Given the description of an element on the screen output the (x, y) to click on. 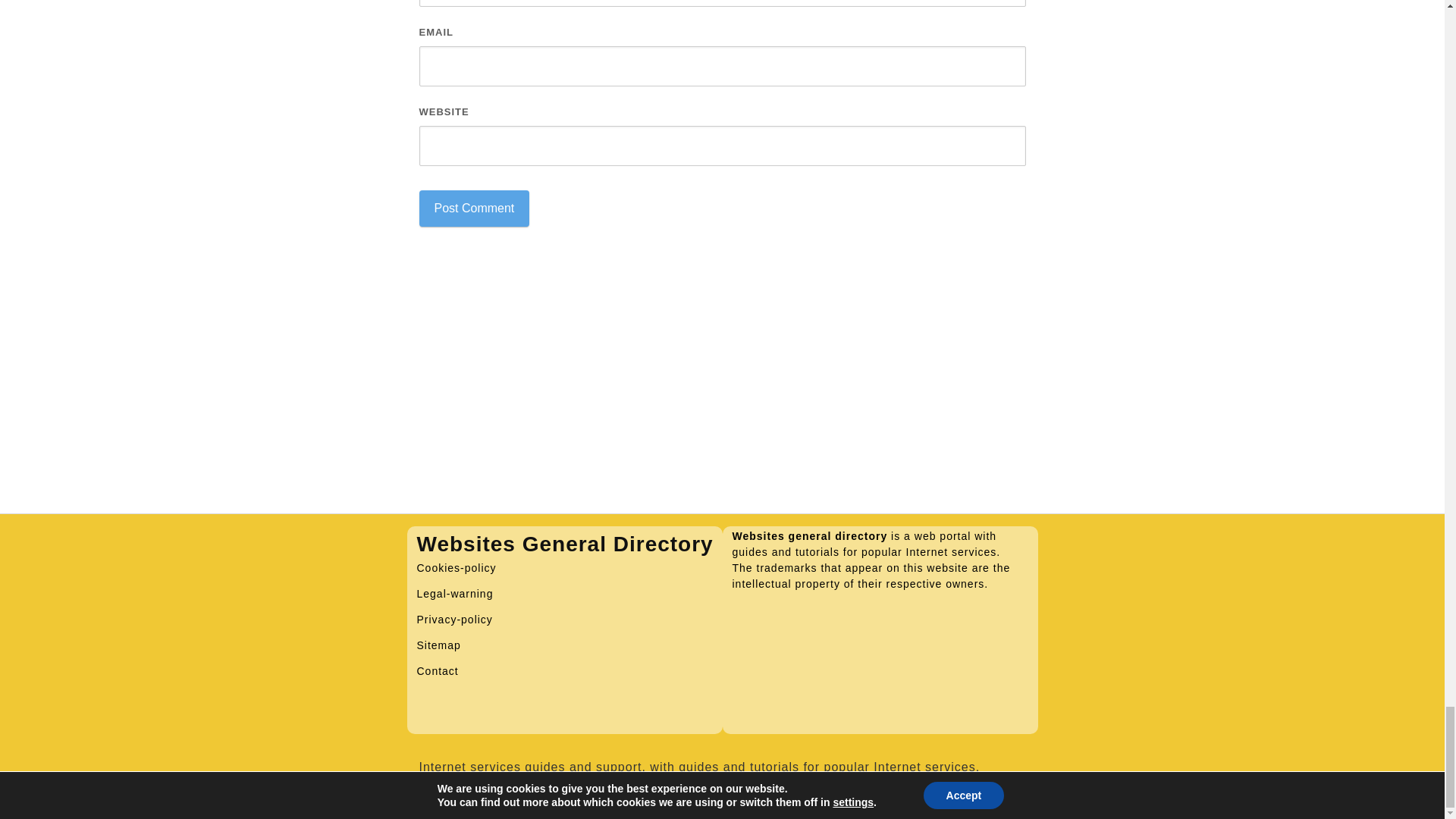
Post Comment (474, 208)
